Given the description of an element on the screen output the (x, y) to click on. 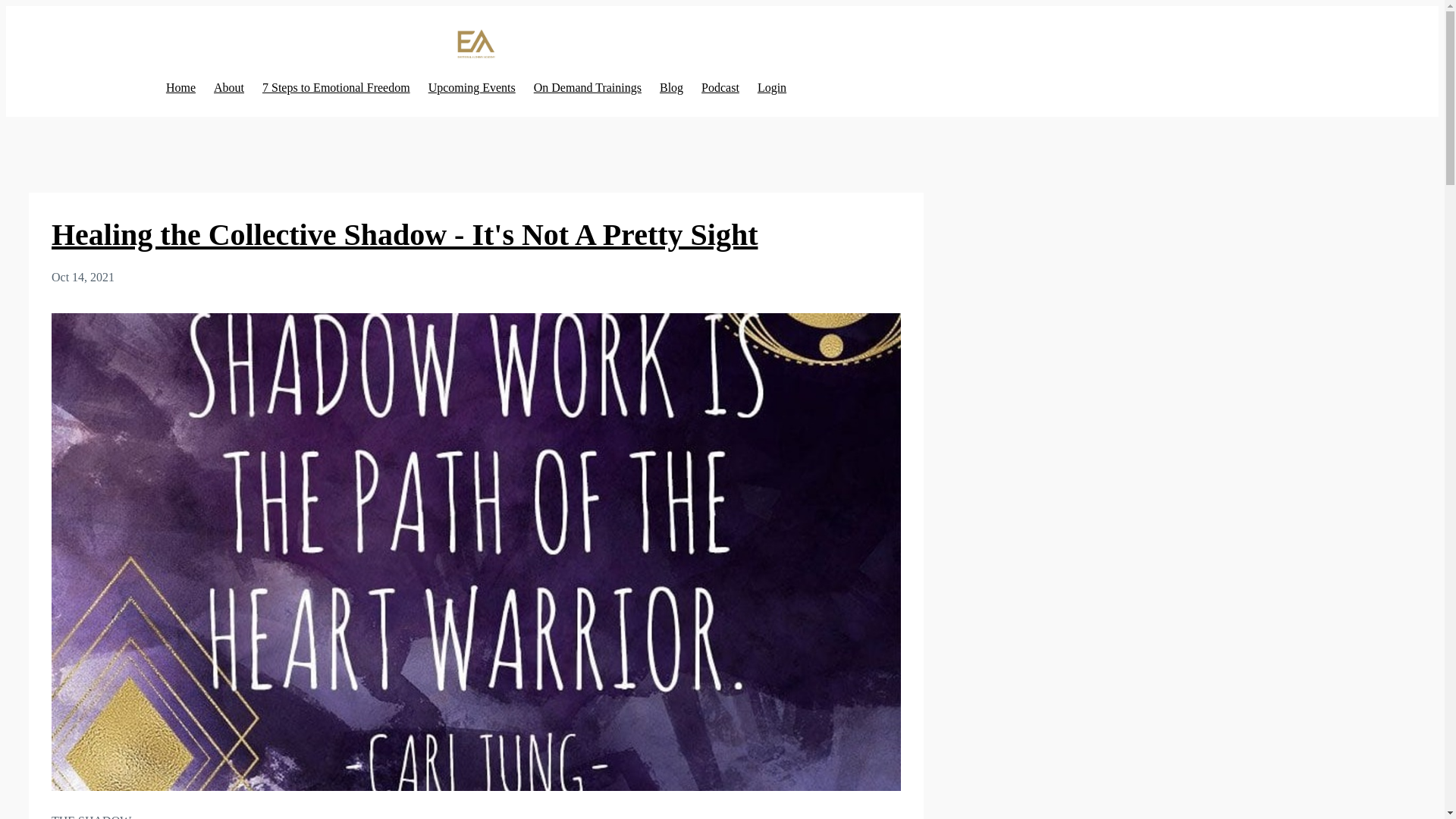
About (229, 87)
Blog (670, 87)
7 Steps to Emotional Freedom (336, 87)
Healing the Collective Shadow - It's Not A Pretty Sight (403, 234)
Upcoming Events (471, 87)
Home (180, 87)
Podcast (720, 87)
On Demand Trainings (588, 87)
Login (771, 87)
